Given the description of an element on the screen output the (x, y) to click on. 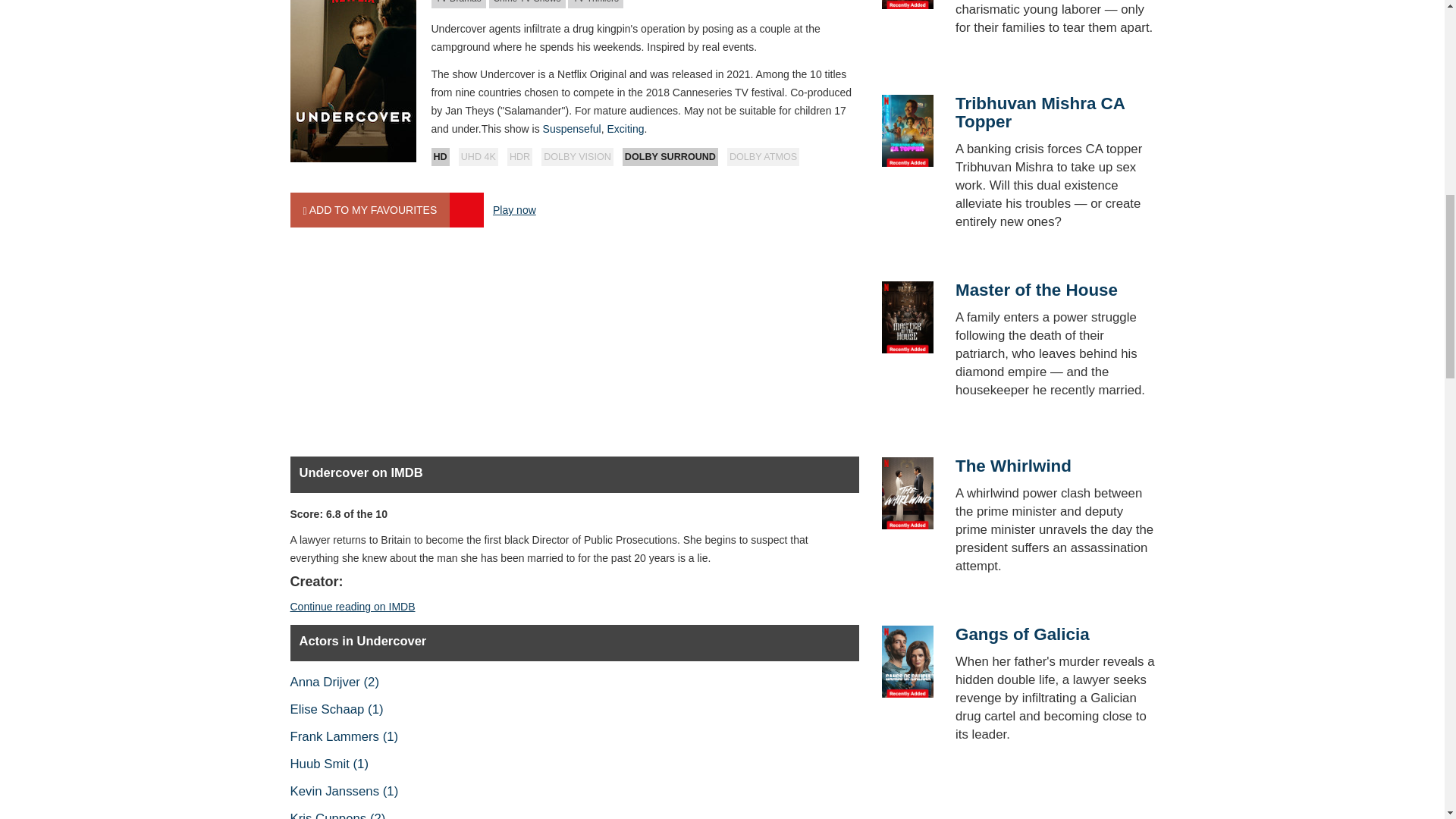
Play now (514, 209)
TV Thrillers (595, 4)
TV Dramas (457, 4)
Suspenseful (572, 128)
Exciting (625, 128)
ADD TO MY FAVOURITES (369, 209)
Continue reading on IMDB (351, 606)
Crime TV Shows (527, 4)
